Given the description of an element on the screen output the (x, y) to click on. 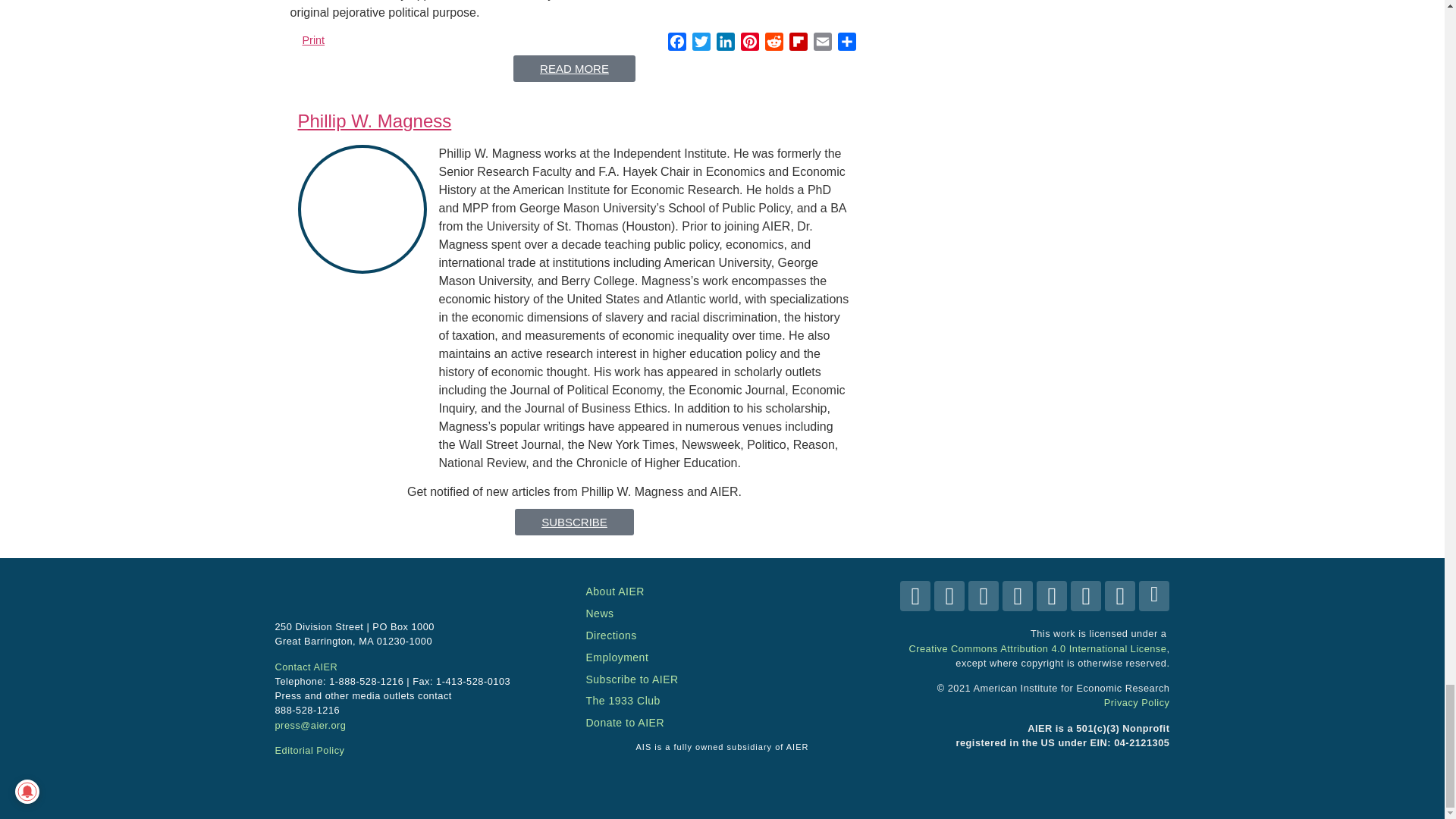
Twitter (700, 44)
LinkedIn (724, 44)
Reddit (773, 44)
Facebook (675, 44)
Privacy Policy (1136, 702)
Pinterest (748, 44)
Email (821, 44)
Flipboard (797, 44)
